Given the description of an element on the screen output the (x, y) to click on. 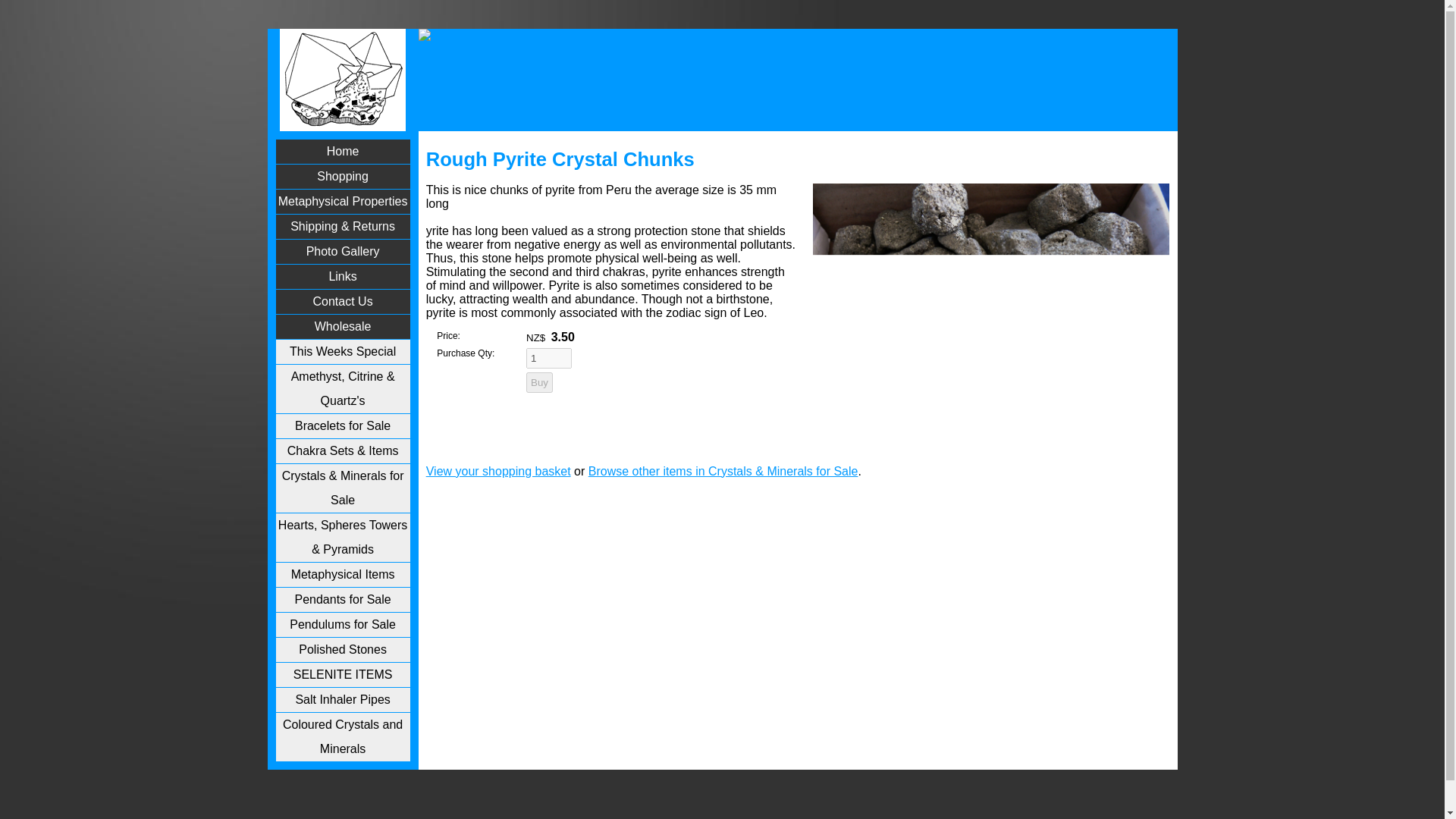
Links (343, 276)
SELENITE ITEMS (343, 674)
This Weeks Special (343, 351)
Shopping (343, 176)
Rough Pyrite Crystal Chunks (991, 446)
Pendants for Sale (343, 599)
View your shopping basket (498, 471)
Wholesale (343, 326)
Coloured Crystals and Minerals (343, 736)
Bracelets for Sale (343, 426)
